Given the description of an element on the screen output the (x, y) to click on. 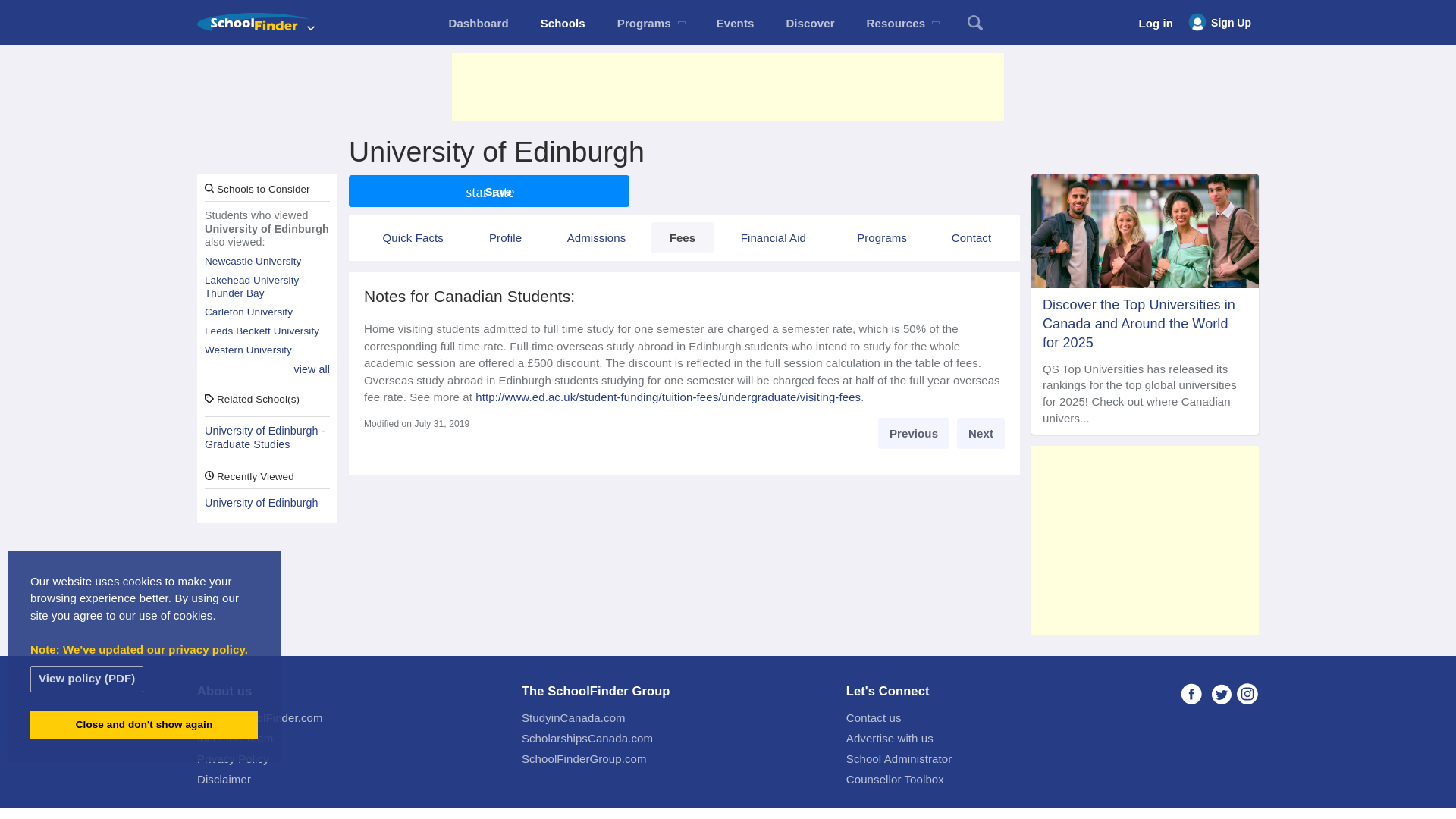
Save (488, 191)
Quick Facts (412, 237)
Profile (504, 237)
Schools (562, 22)
University of Edinburgh - Graduate Studies (267, 438)
University of Edinburgh (267, 503)
Leeds Beckett University (267, 331)
Carleton University (267, 312)
mySTUFF (478, 22)
Advertisement (727, 87)
Events (735, 22)
Resources (902, 22)
Close and don't show again (143, 725)
Discover (810, 22)
Western University (267, 350)
